Given the description of an element on the screen output the (x, y) to click on. 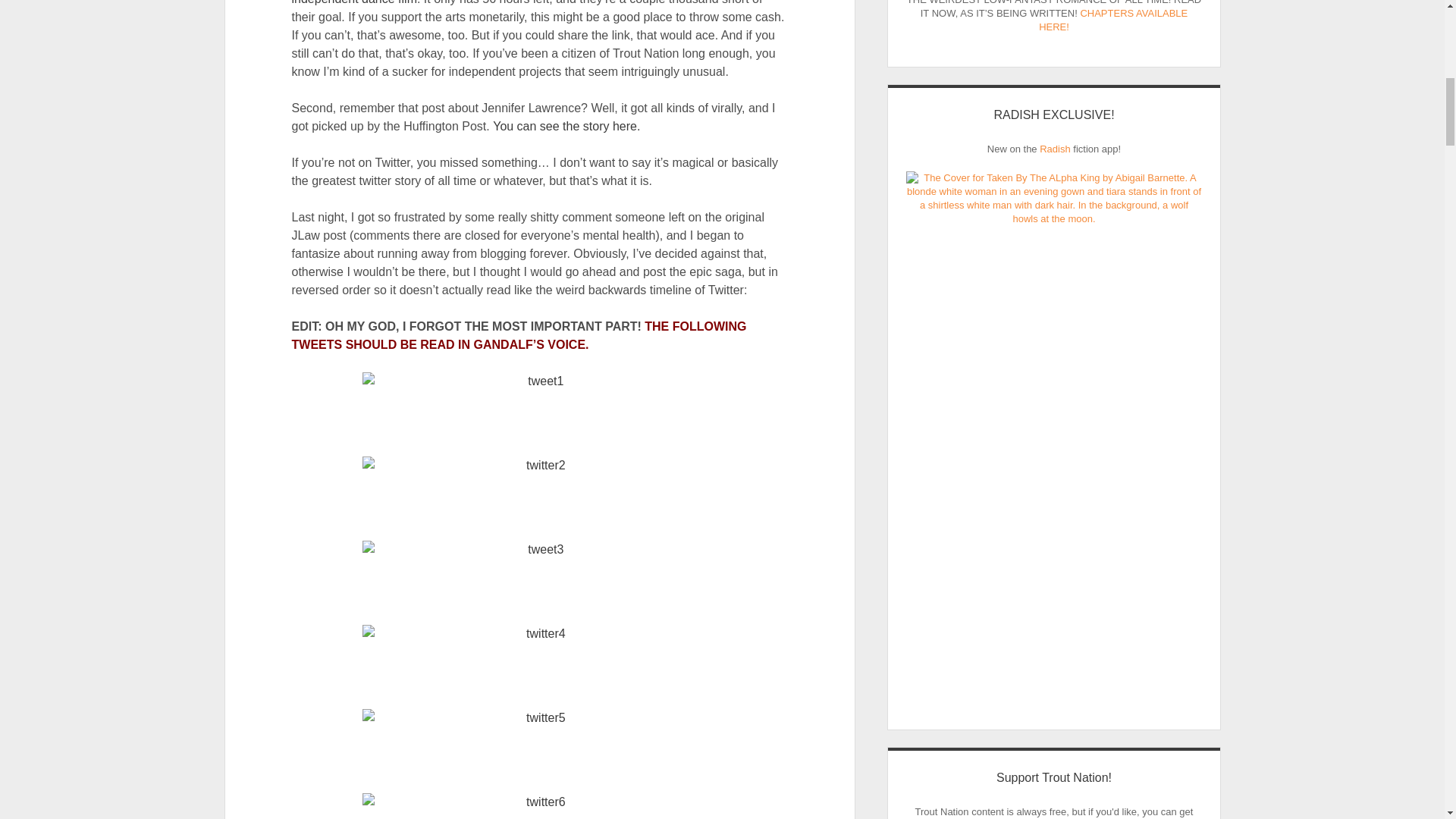
You can see the story here. (566, 125)
